Given the description of an element on the screen output the (x, y) to click on. 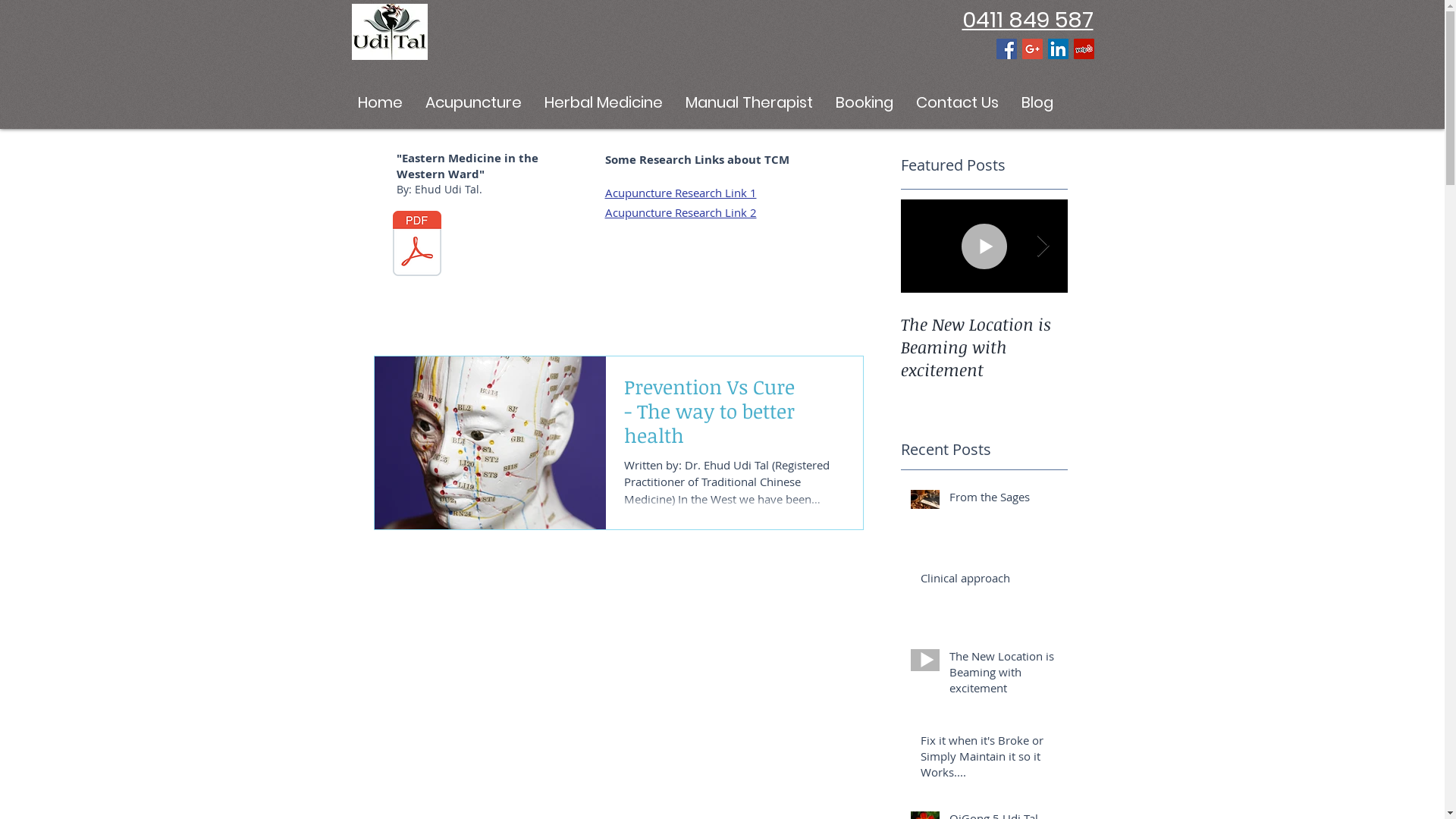
Acupuncture Research Link 1 Element type: text (680, 192)
Contact Us Element type: text (956, 101)
From the Sages Element type: text (1003, 500)
Acupuncture Element type: text (473, 101)
All About Wellness Element type: text (1150, 323)
Clinical approach Element type: text (989, 581)
Home Element type: text (379, 101)
Booking Element type: text (863, 101)
The New Location is Beaming with excitement Element type: text (1003, 675)
Fix it when it's Broke or Simply Maintain it so it Works.... Element type: text (989, 759)
Blog Element type: text (1037, 101)
Chinese Medicine in the Western Ward.pdf Element type: hover (416, 244)
Acupuncture Research Link 2 Element type: text (680, 211)
0411 849 587 Element type: text (1026, 19)
Herbal Medicine Element type: text (602, 101)
Manual Therapist Element type: text (748, 101)
Prevention Vs Cure - The way to better health Element type: text (733, 415)
The New Location is Beaming with excitement Element type: text (983, 346)
